Given the description of an element on the screen output the (x, y) to click on. 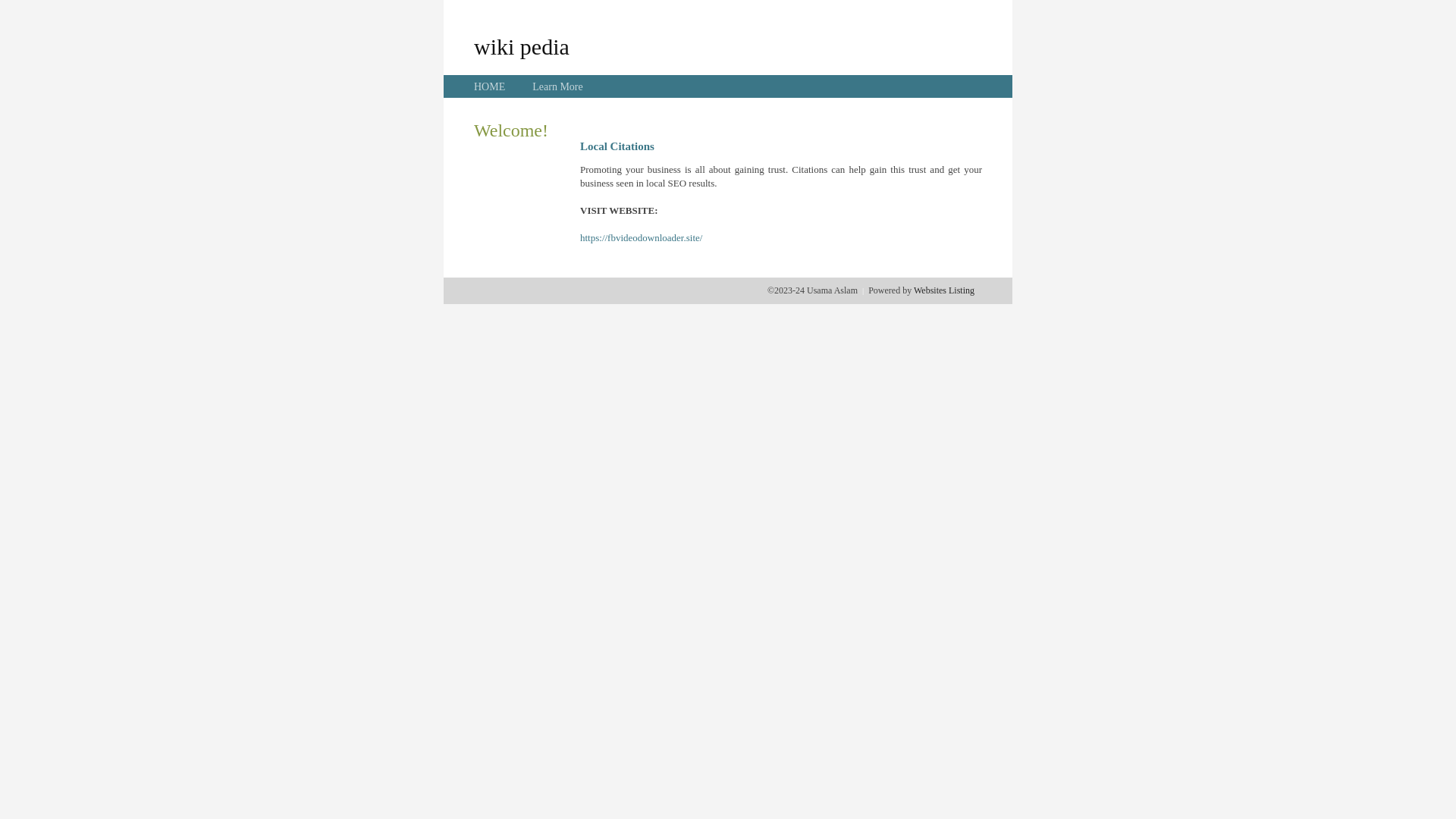
HOME Element type: text (489, 86)
wiki pedia Element type: text (521, 46)
Learn More Element type: text (557, 86)
Websites Listing Element type: text (943, 290)
https://fbvideodownloader.site/ Element type: text (641, 237)
